Given the description of an element on the screen output the (x, y) to click on. 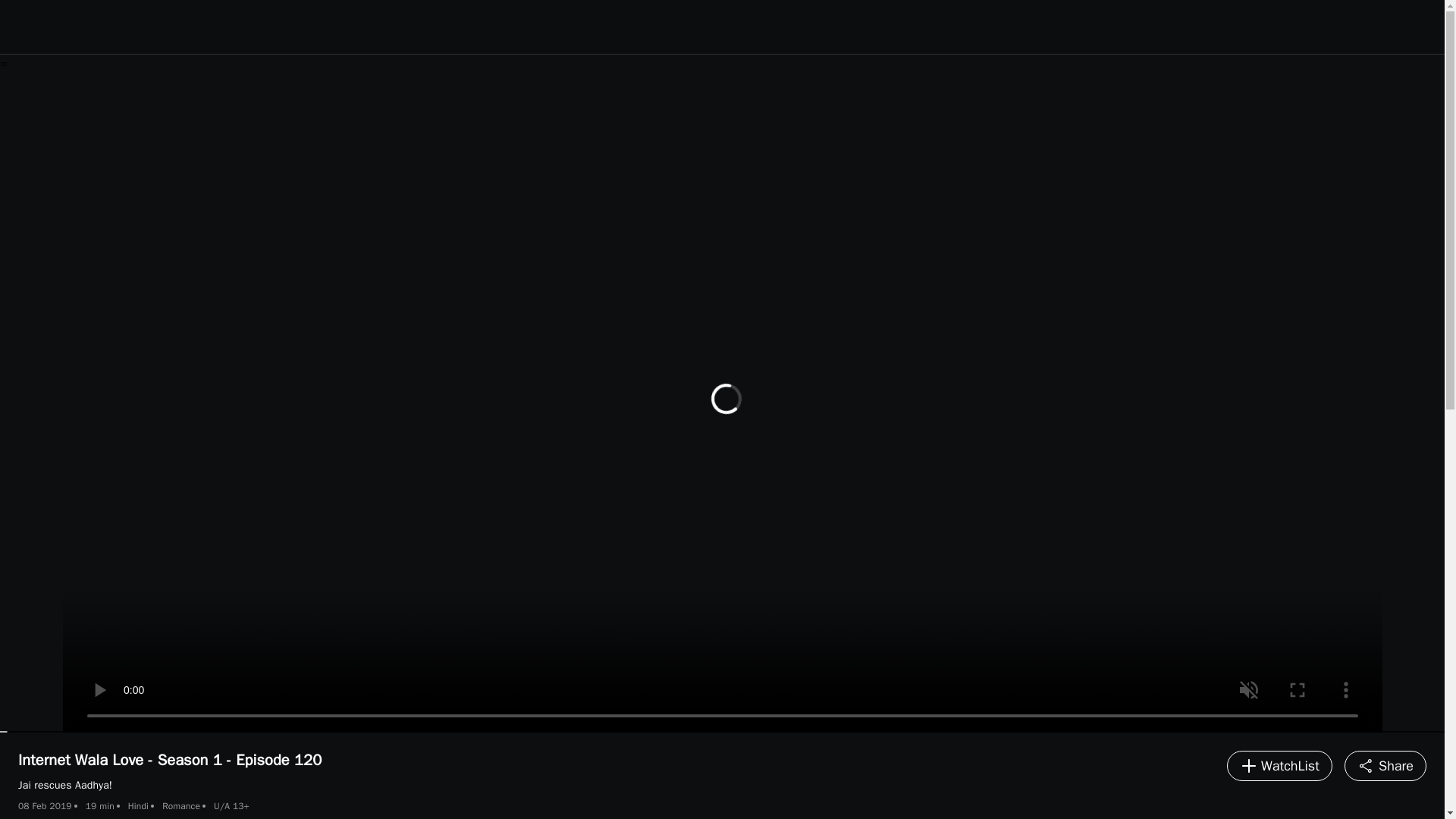
WatchList (1279, 766)
Share (1384, 766)
